Given the description of an element on the screen output the (x, y) to click on. 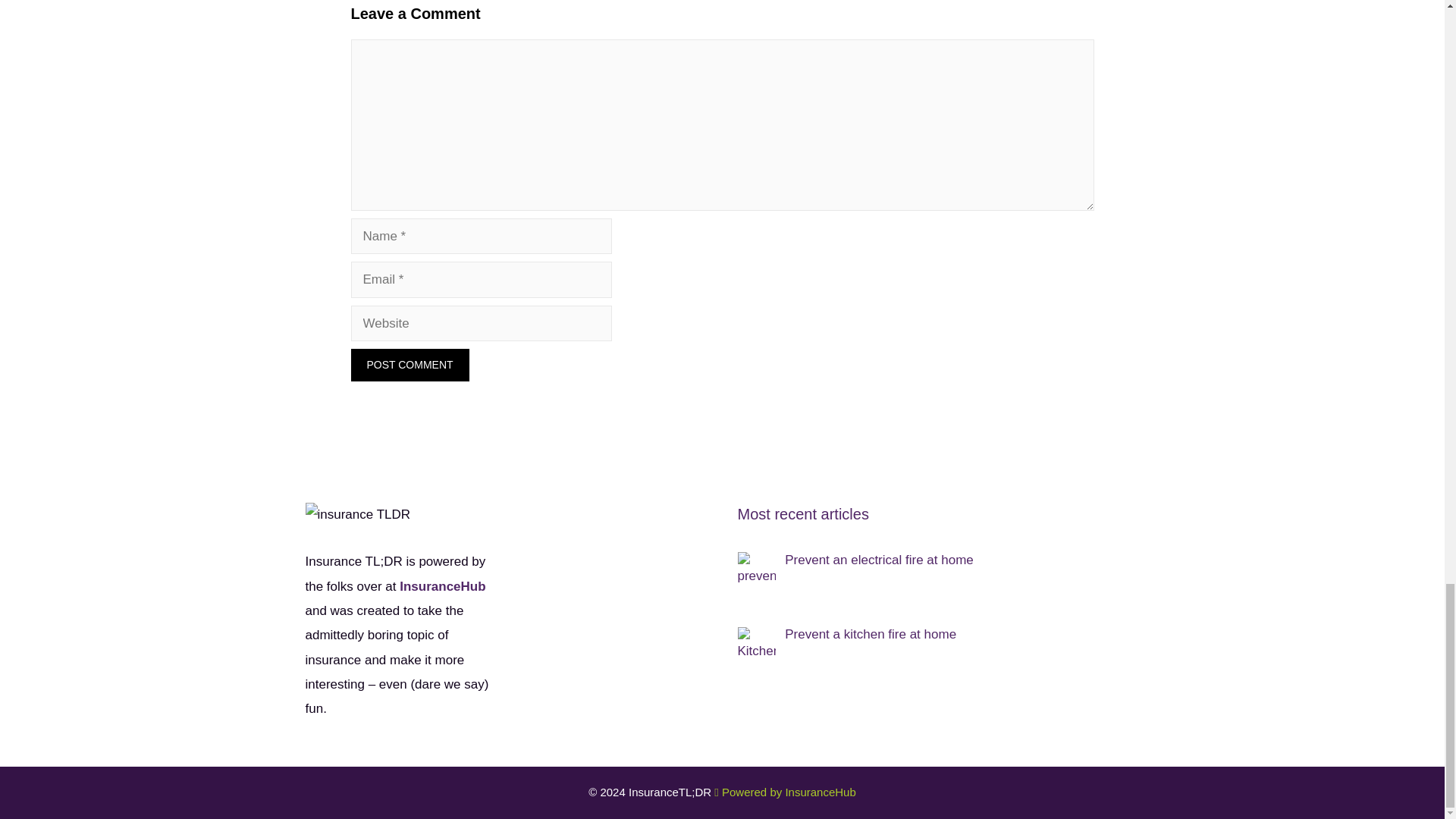
Post Comment (409, 364)
